Given the description of an element on the screen output the (x, y) to click on. 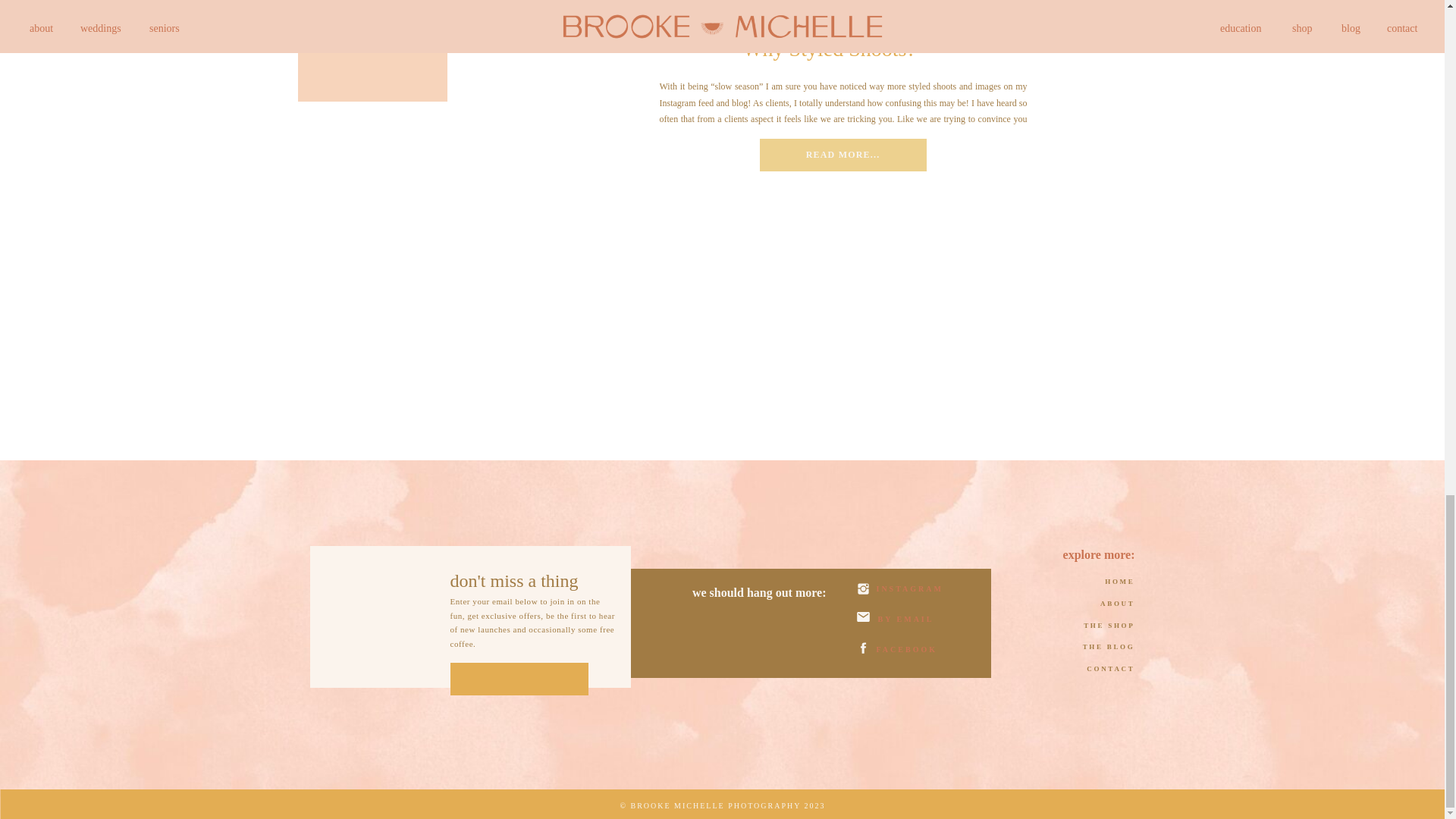
Why Styled Shoots? (842, 154)
READ MORE... (842, 154)
Why Styled Shoots? (828, 48)
Why Styled Shoots? (843, 154)
shop on liketoknow.it (371, 29)
